Given the description of an element on the screen output the (x, y) to click on. 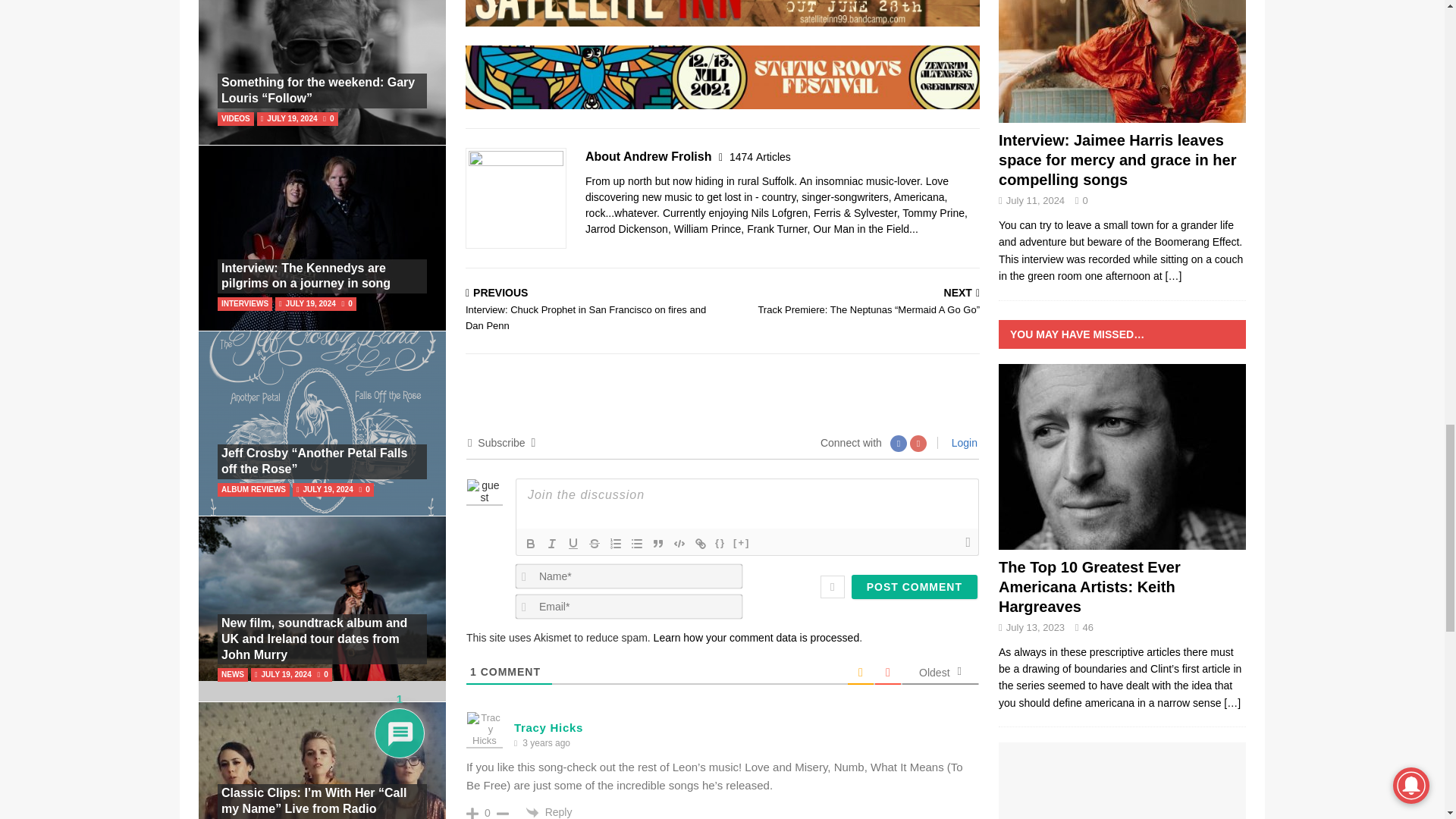
Post Comment (913, 586)
